Given the description of an element on the screen output the (x, y) to click on. 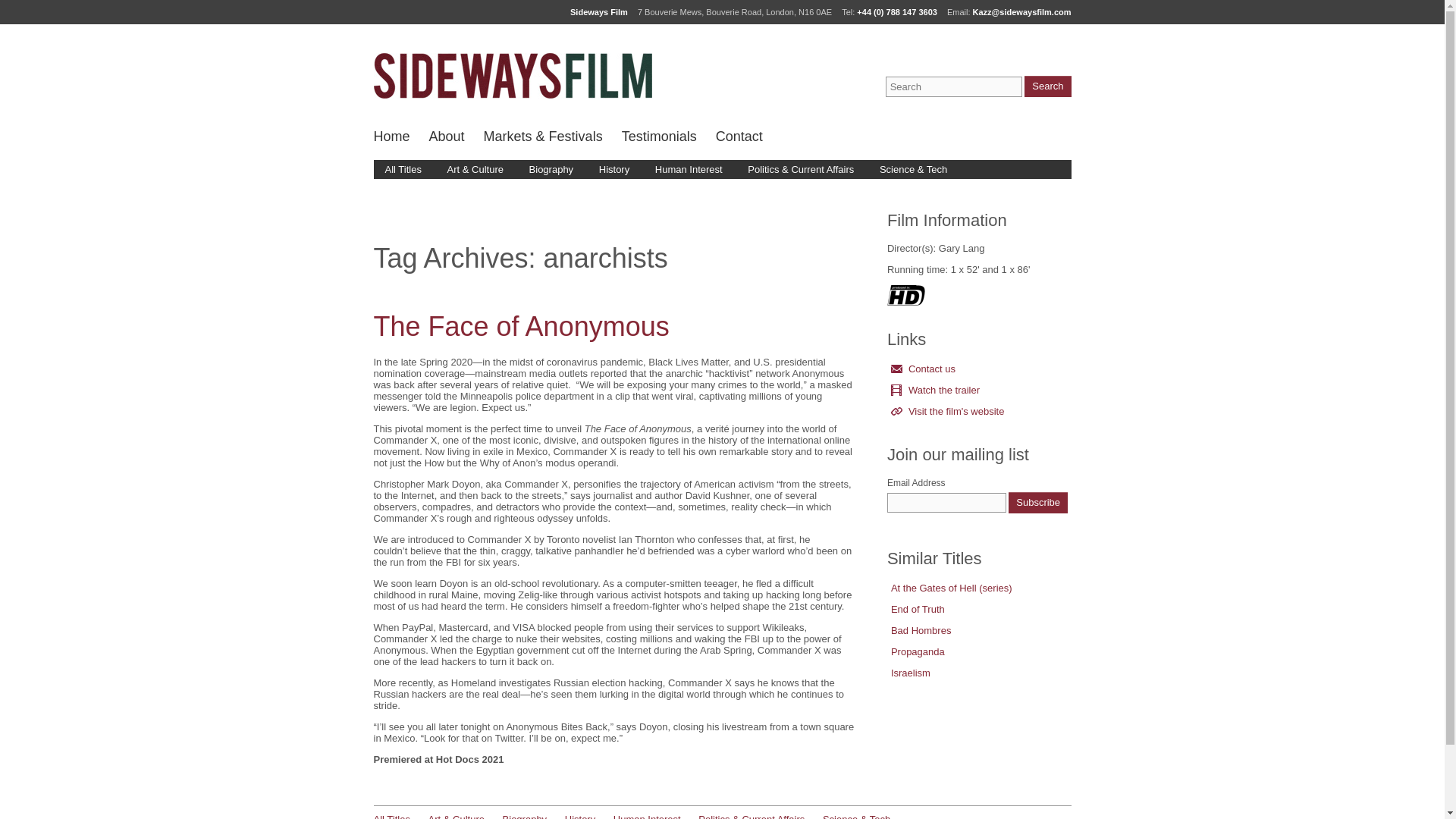
Human Interest (688, 169)
Propaganda (978, 651)
Subscribe (1038, 502)
Permalink to The Face of Anonymous (520, 326)
About (446, 140)
Visit the film's website (978, 411)
Human Interest (646, 816)
Propaganda (978, 651)
All Titles (390, 816)
Search (1047, 86)
All Titles (402, 169)
Sideways Film (511, 75)
End of Truth (978, 609)
History (614, 169)
Biography (551, 169)
